Given the description of an element on the screen output the (x, y) to click on. 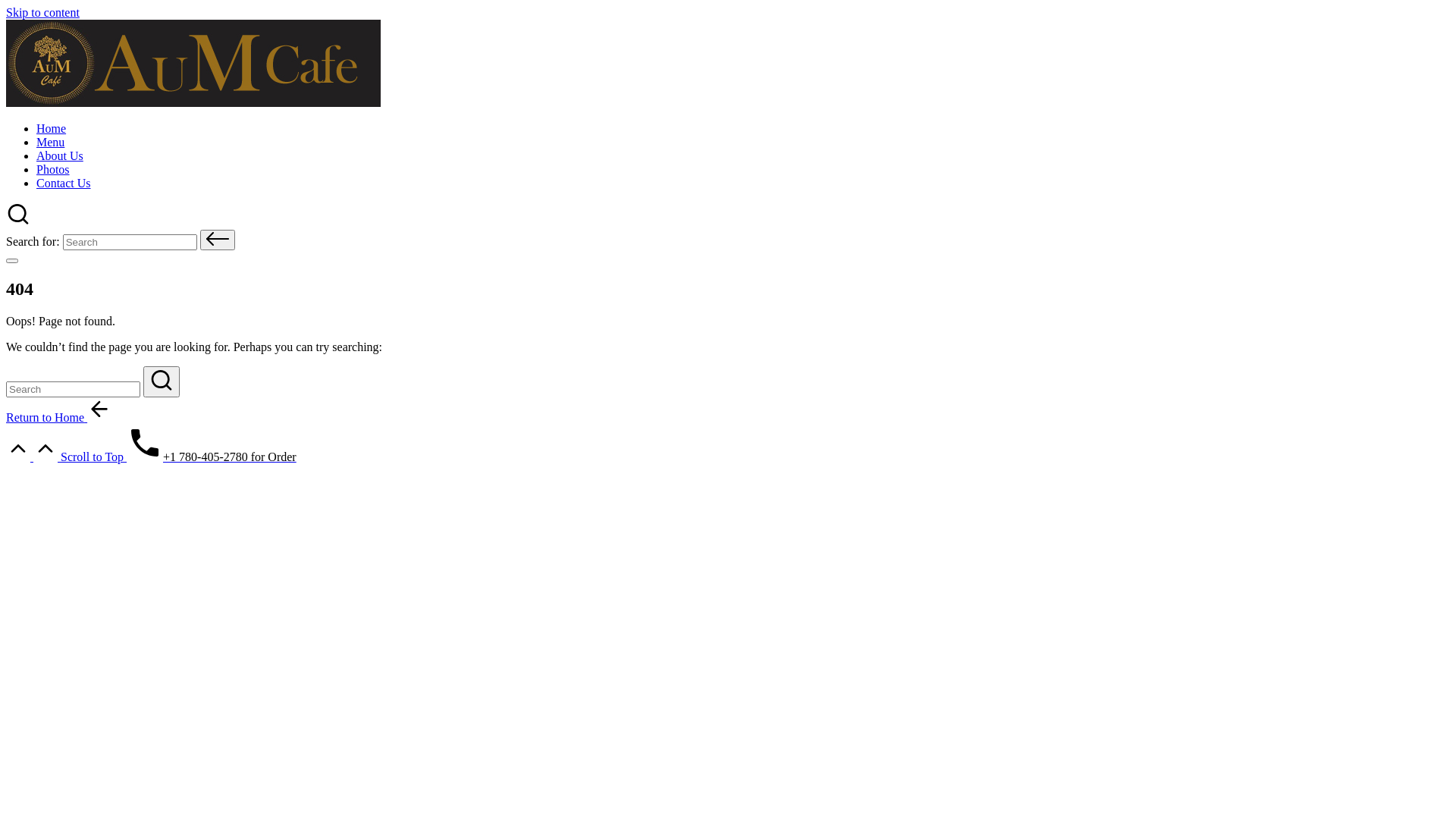
Contact Us Element type: text (63, 182)
About Us Element type: text (59, 155)
+1 780-405-2780 for Order Element type: text (211, 456)
Photos Element type: text (52, 169)
Home Element type: text (50, 128)
Skip to content Element type: text (42, 12)
Scroll to Top Element type: text (66, 456)
Menu Element type: text (50, 141)
Return to Home Element type: text (58, 417)
